Given the description of an element on the screen output the (x, y) to click on. 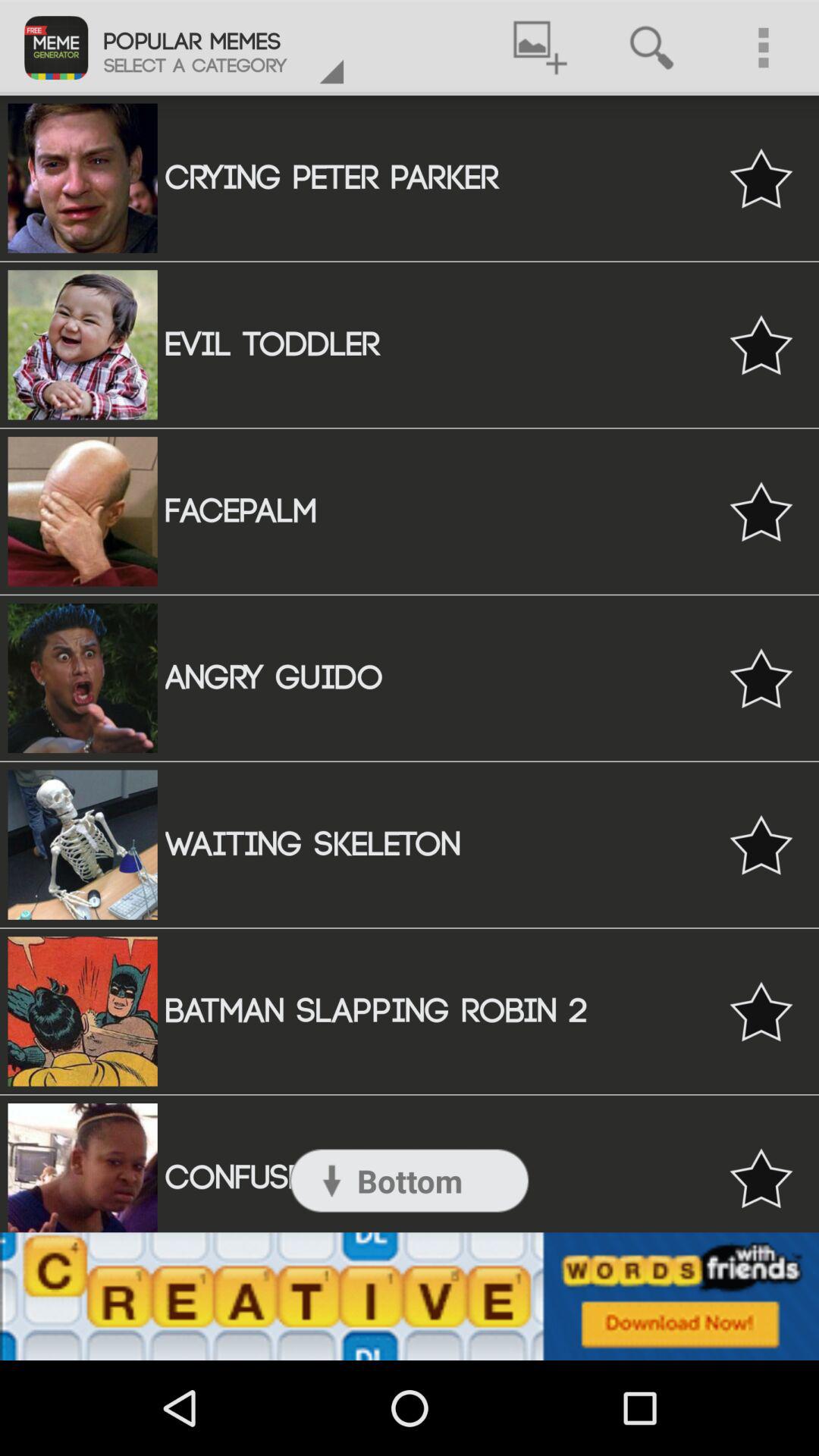
favorite this meme (761, 844)
